Given the description of an element on the screen output the (x, y) to click on. 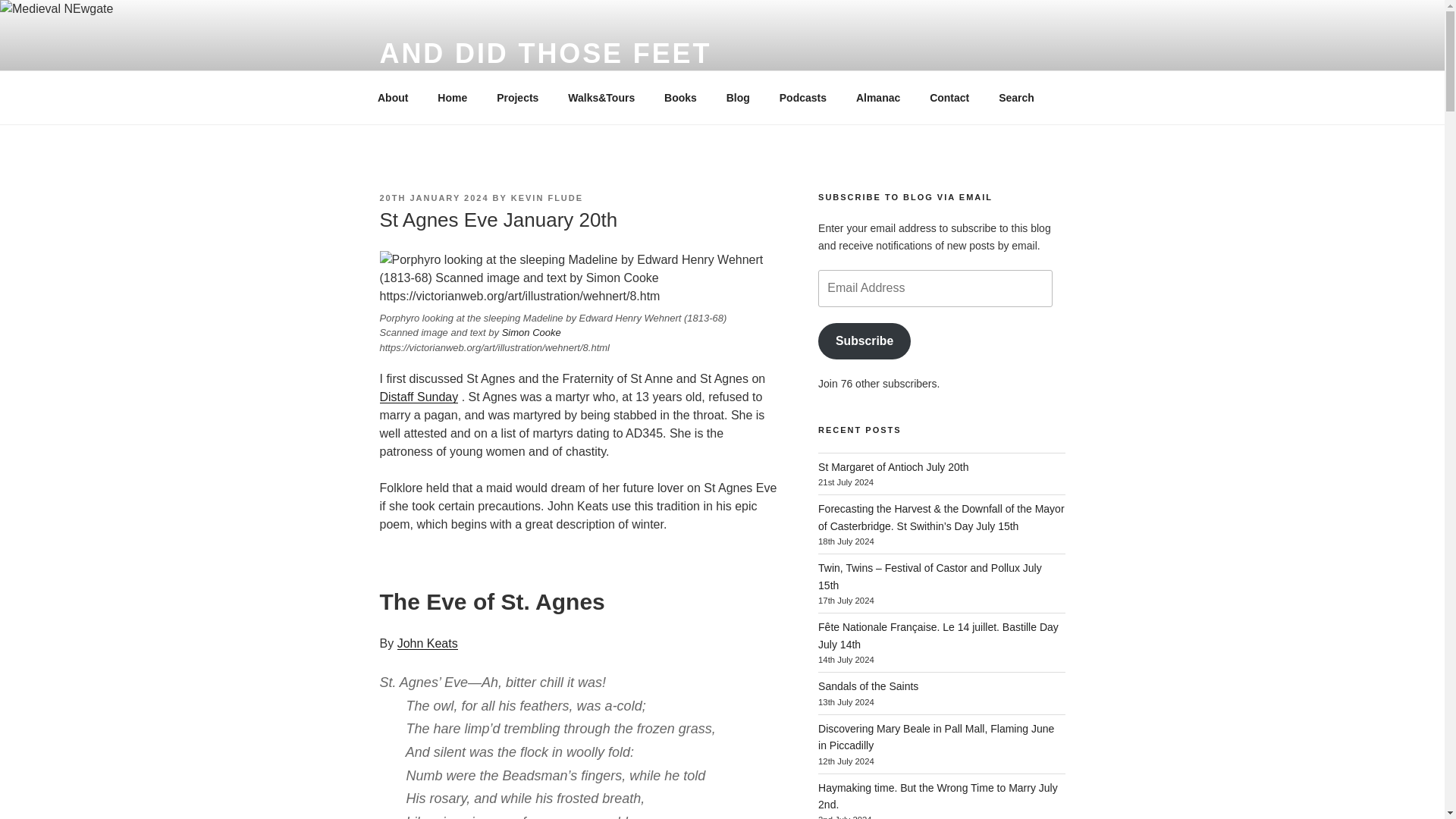
Simon Cooke (531, 332)
Books (680, 97)
Search (1016, 97)
AND DID THOSE FEET (544, 52)
About (392, 97)
Projects (517, 97)
Contact (949, 97)
20TH JANUARY 2024 (432, 197)
Home (452, 97)
Distaff Sunday (418, 396)
John Keats (427, 643)
Almanac (877, 97)
Podcasts (802, 97)
KEVIN FLUDE (547, 197)
Blog (737, 97)
